Given the description of an element on the screen output the (x, y) to click on. 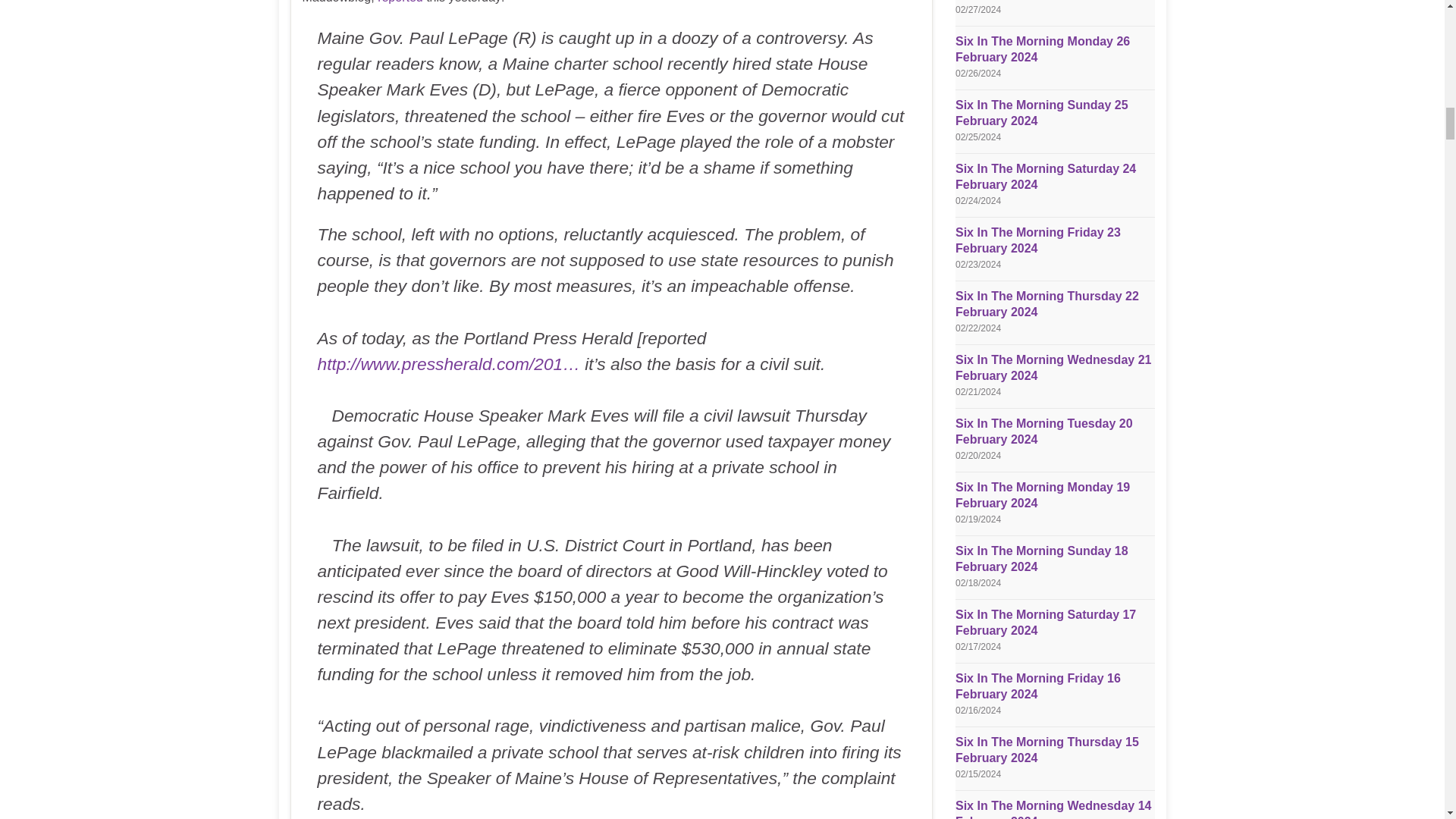
reported (400, 2)
